Given the description of an element on the screen output the (x, y) to click on. 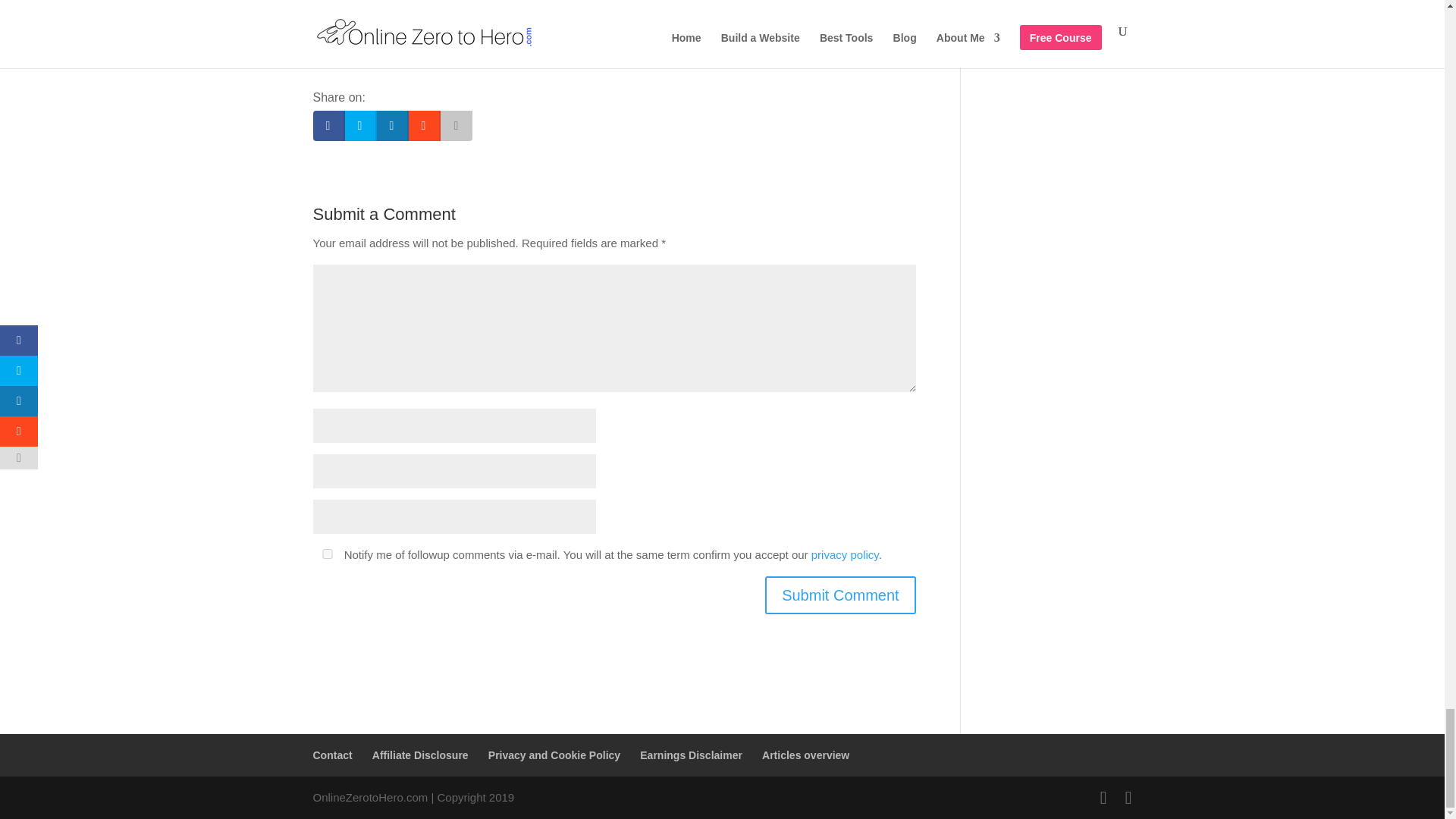
Submit Comment (840, 595)
Submit Comment (840, 595)
privacy policy (844, 554)
yes (326, 553)
